Given the description of an element on the screen output the (x, y) to click on. 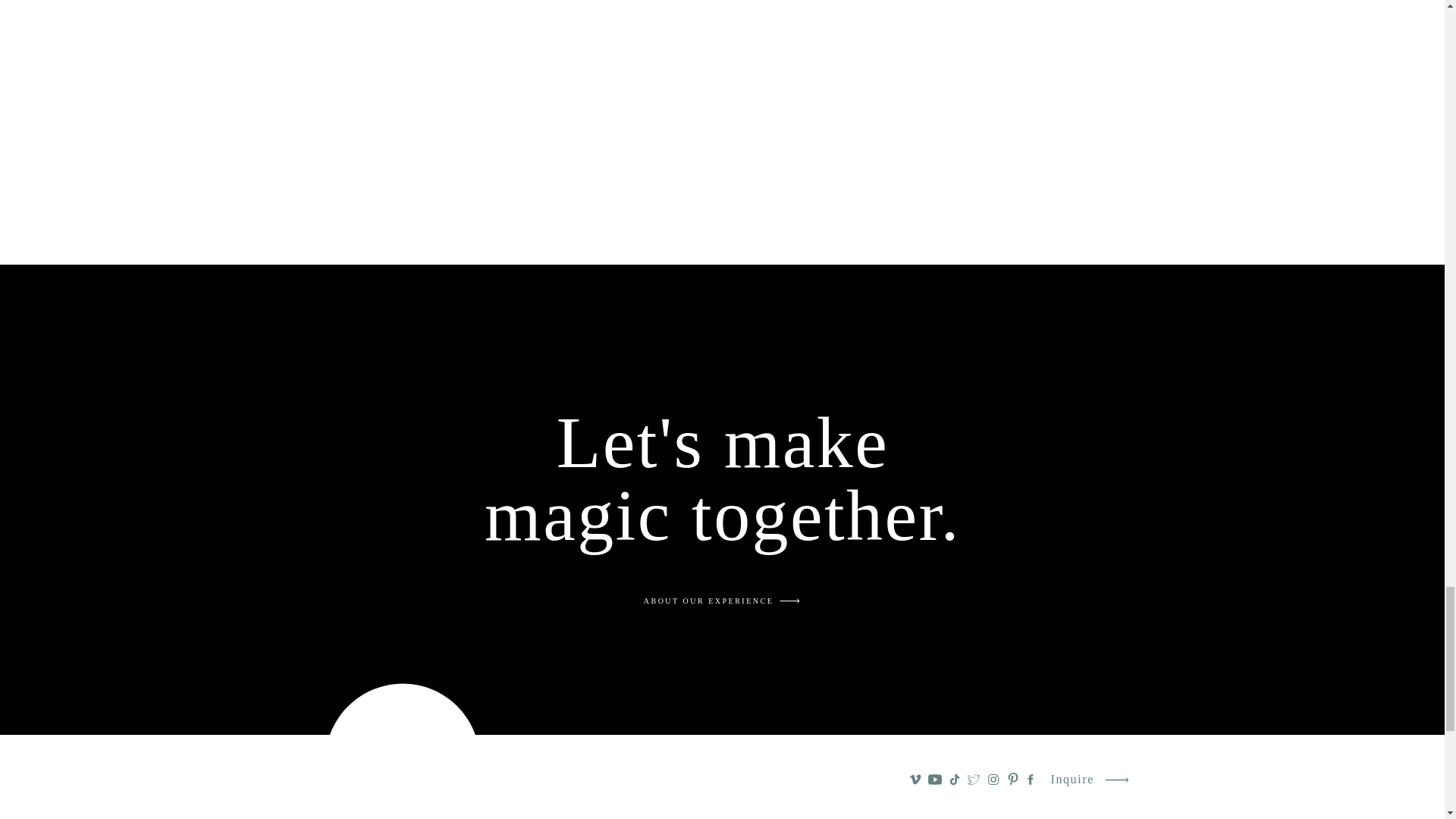
arrow (1115, 779)
arrow (789, 601)
